Given the description of an element on the screen output the (x, y) to click on. 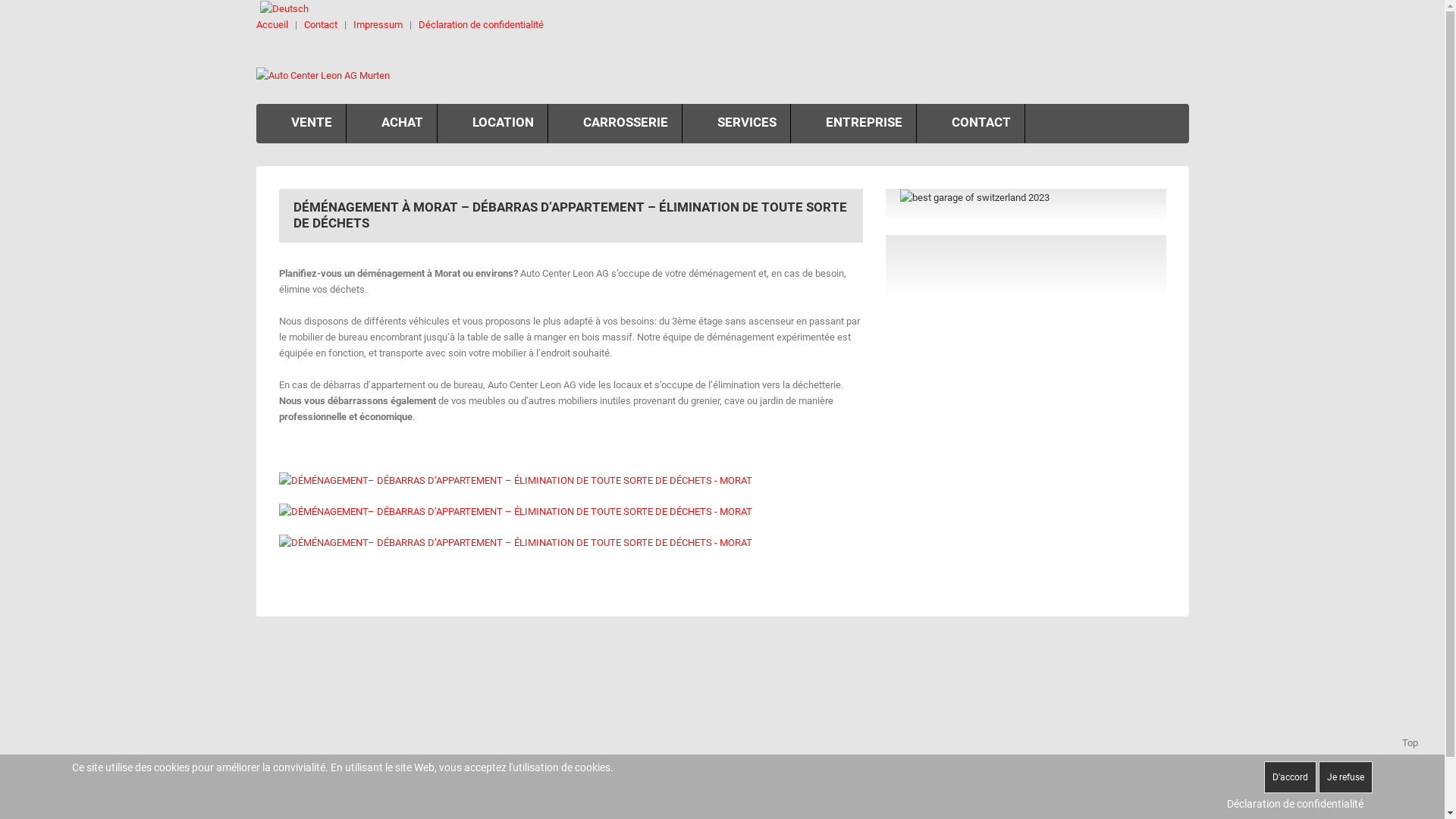
Impressum Element type: text (377, 24)
info@autoleon.ch Element type: text (963, 781)
026 672 21 21 Element type: text (609, 781)
CONTACT Element type: text (969, 123)
CARROSSERIE Element type: text (613, 123)
ENTREPRISE Element type: text (852, 123)
Je refuse Element type: text (1345, 777)
ACHAT Element type: text (390, 123)
D'accord Element type: text (1290, 777)
Top Element type: text (1409, 720)
Accueil Element type: text (272, 24)
Deutsch Element type: hover (283, 8)
026 672 21 25 Element type: text (879, 781)
LOCATION Element type: text (491, 123)
026 672 21 24 Element type: text (768, 781)
VENTE Element type: text (300, 123)
SERVICES Element type: text (736, 123)
Contact Element type: text (319, 24)
